Given the description of an element on the screen output the (x, y) to click on. 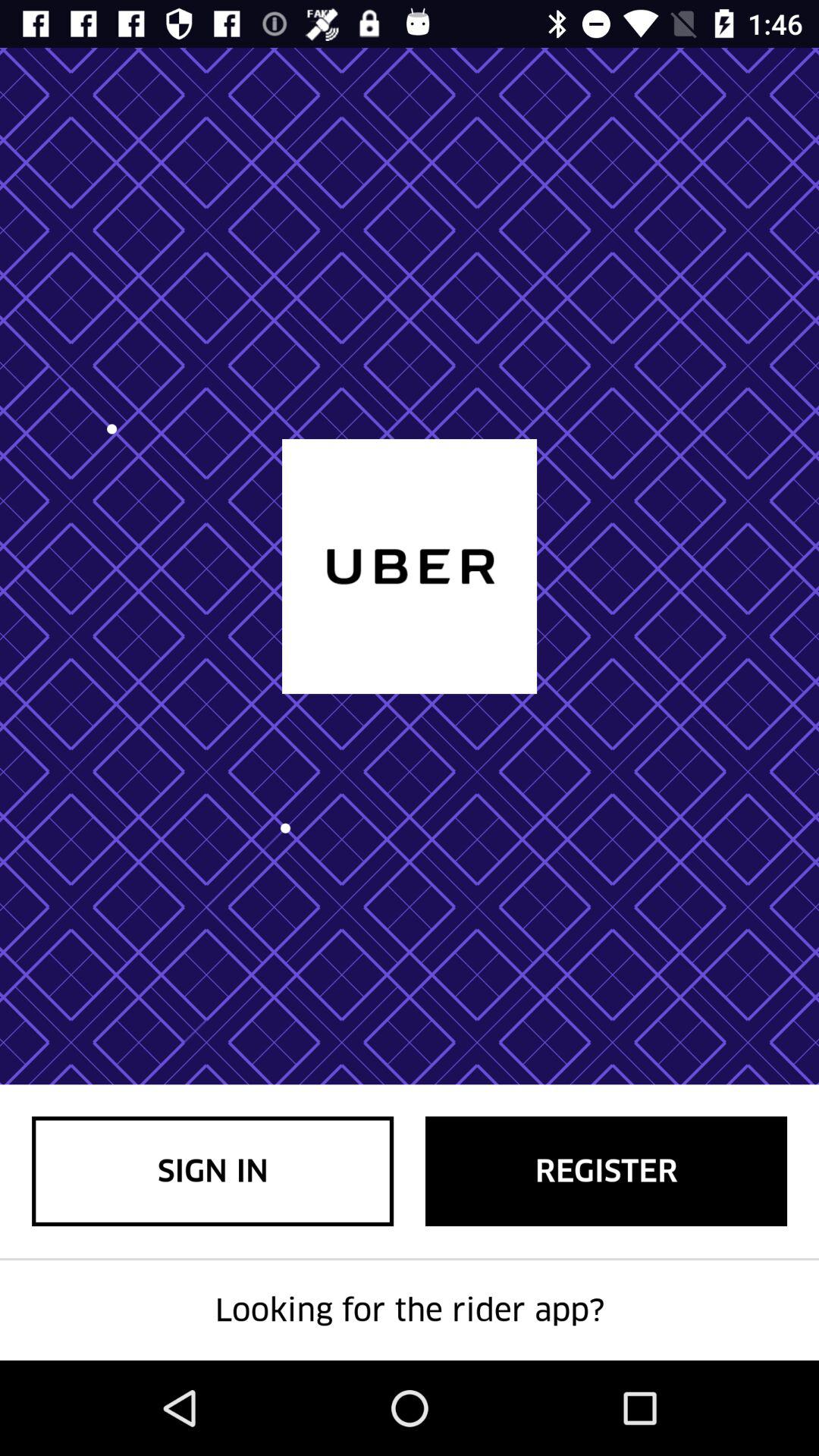
tap looking for the item (409, 1310)
